Given the description of an element on the screen output the (x, y) to click on. 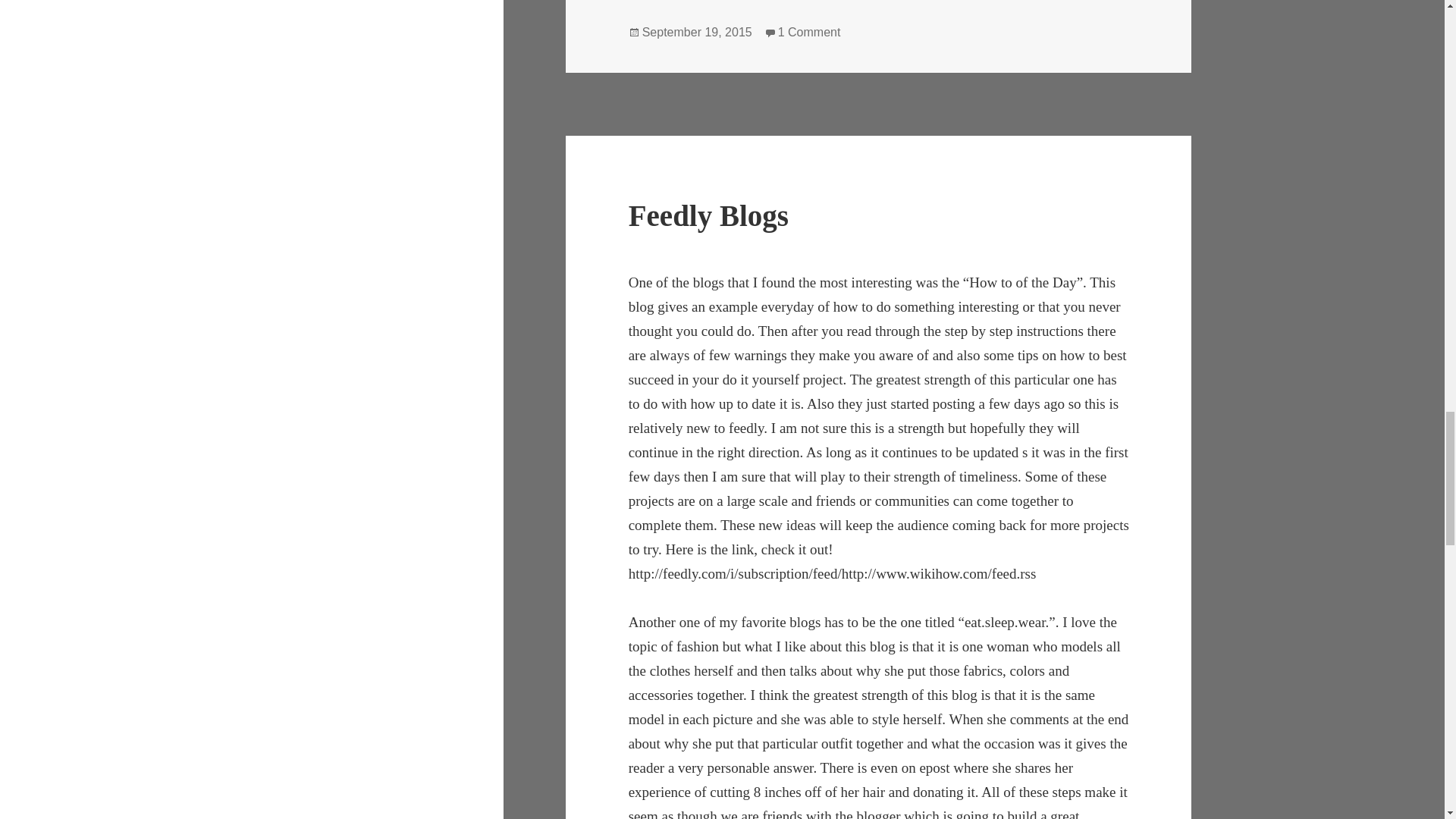
September 19, 2015 (697, 32)
